Given the description of an element on the screen output the (x, y) to click on. 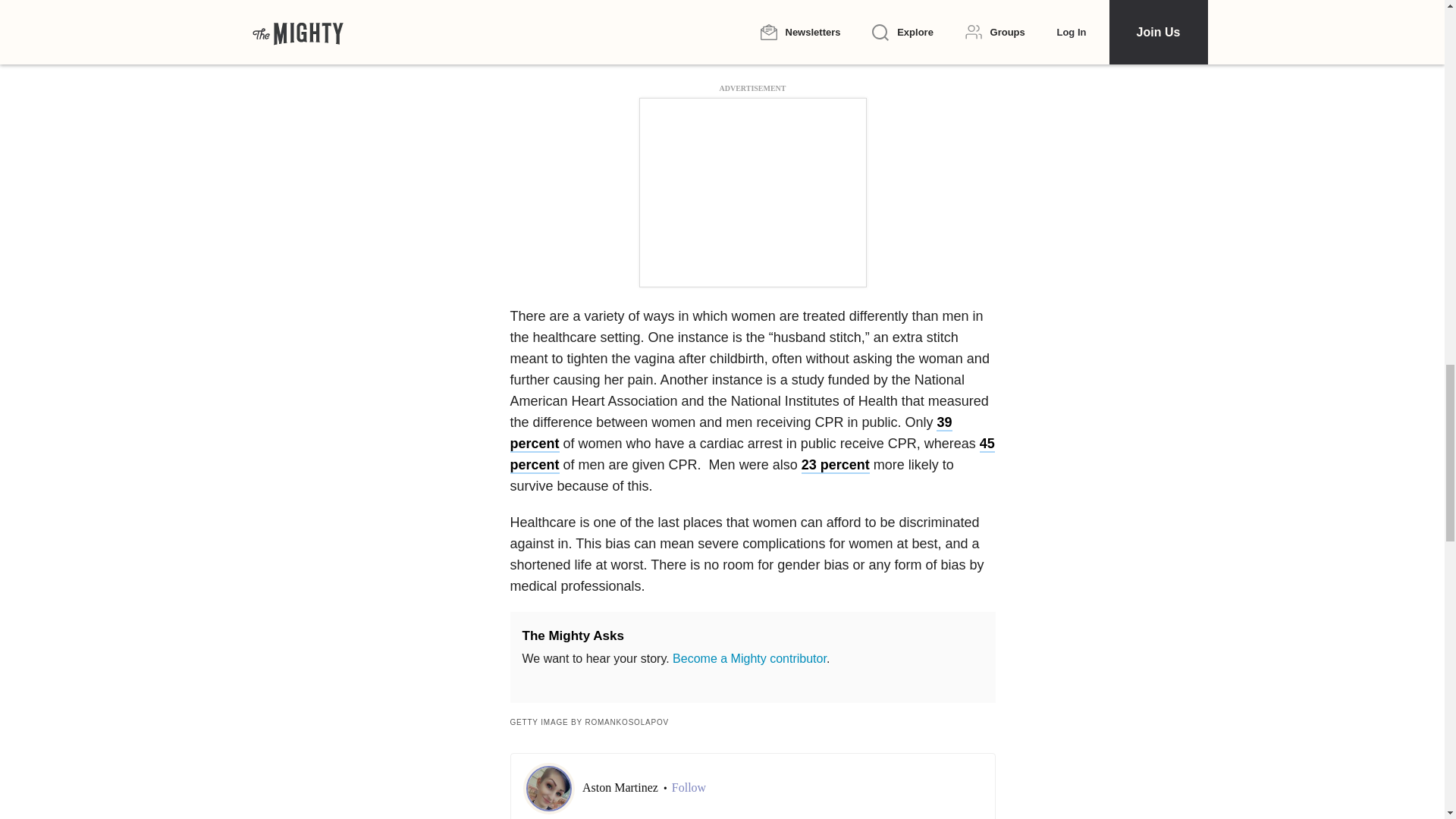
Become a Mighty contributor (749, 658)
Follow (688, 787)
39 percent (730, 433)
45 percent (751, 454)
23 percent (835, 465)
Aston Martinez (621, 787)
